Given the description of an element on the screen output the (x, y) to click on. 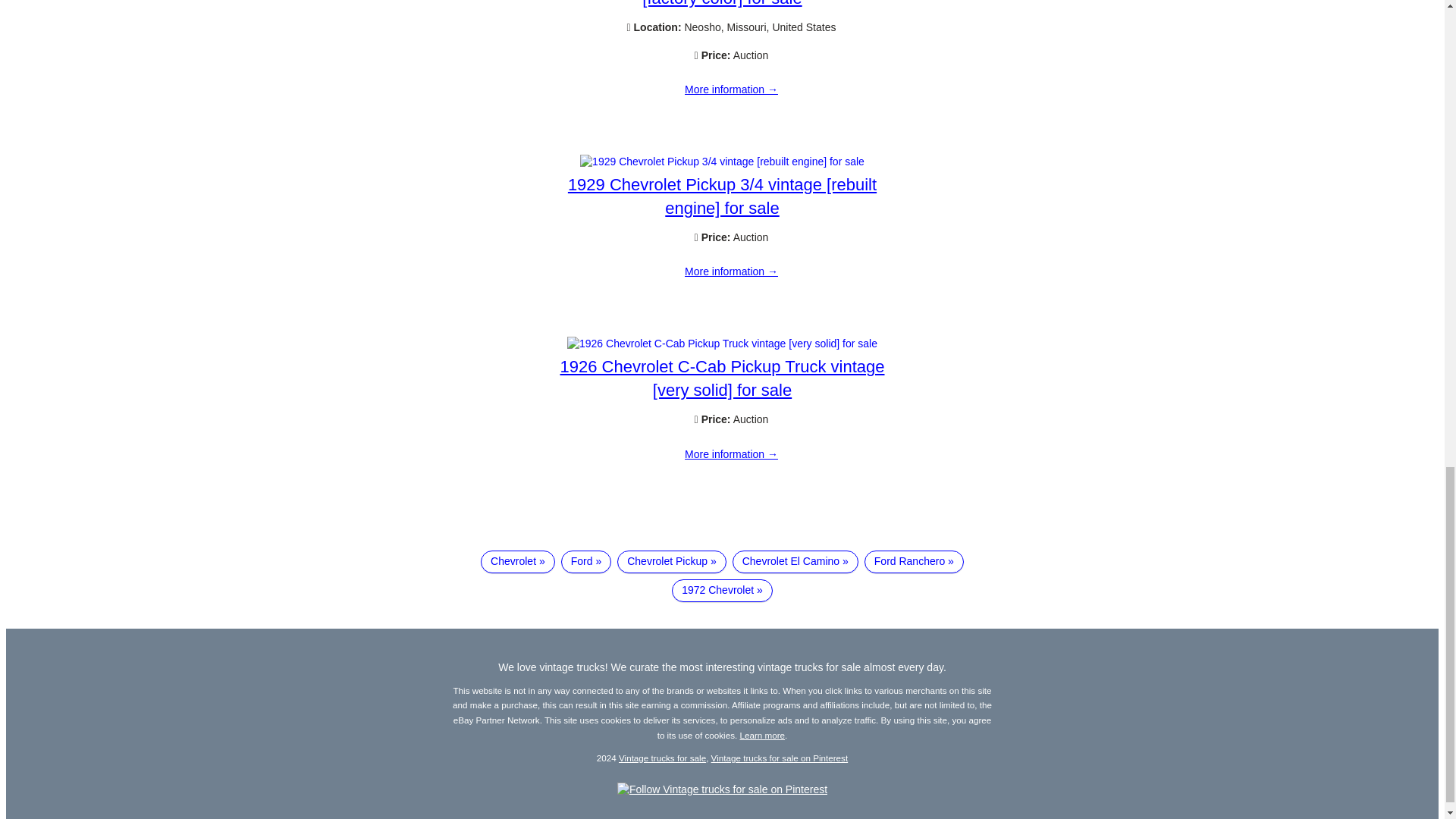
Vintage trucks for sale (662, 757)
Follow Vintage trucks for sale on Pinterest (722, 788)
Chevrolet Pickup (671, 561)
Ford Ranchero (913, 561)
Chevrolet El Camino (795, 561)
Chevrolet (517, 561)
Learn more (762, 735)
1972 Chevrolet (722, 590)
Ford (585, 561)
Vintage trucks for sale on Pinterest (779, 757)
